Given the description of an element on the screen output the (x, y) to click on. 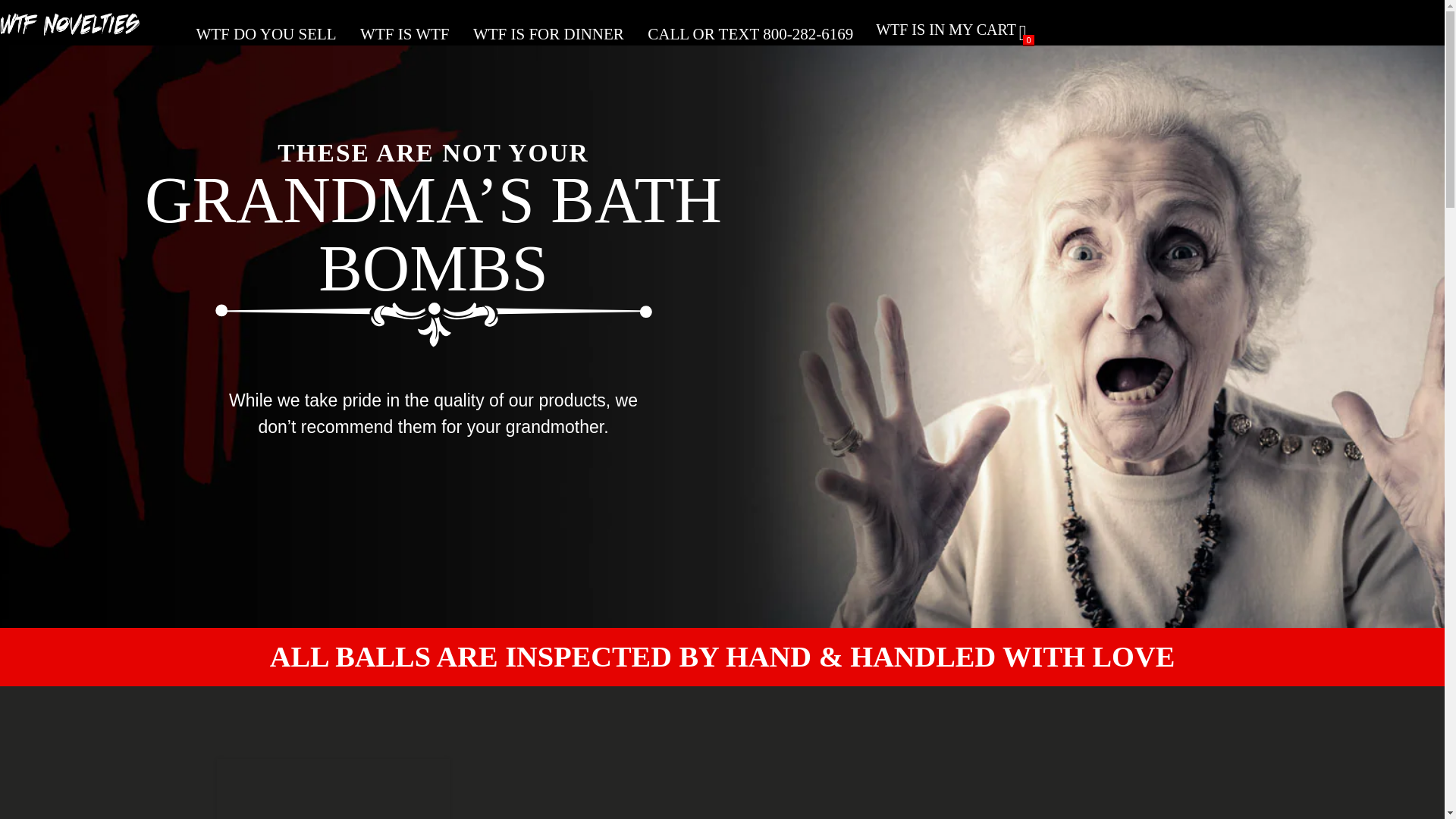
WTF Novelties (76, 29)
